Given the description of an element on the screen output the (x, y) to click on. 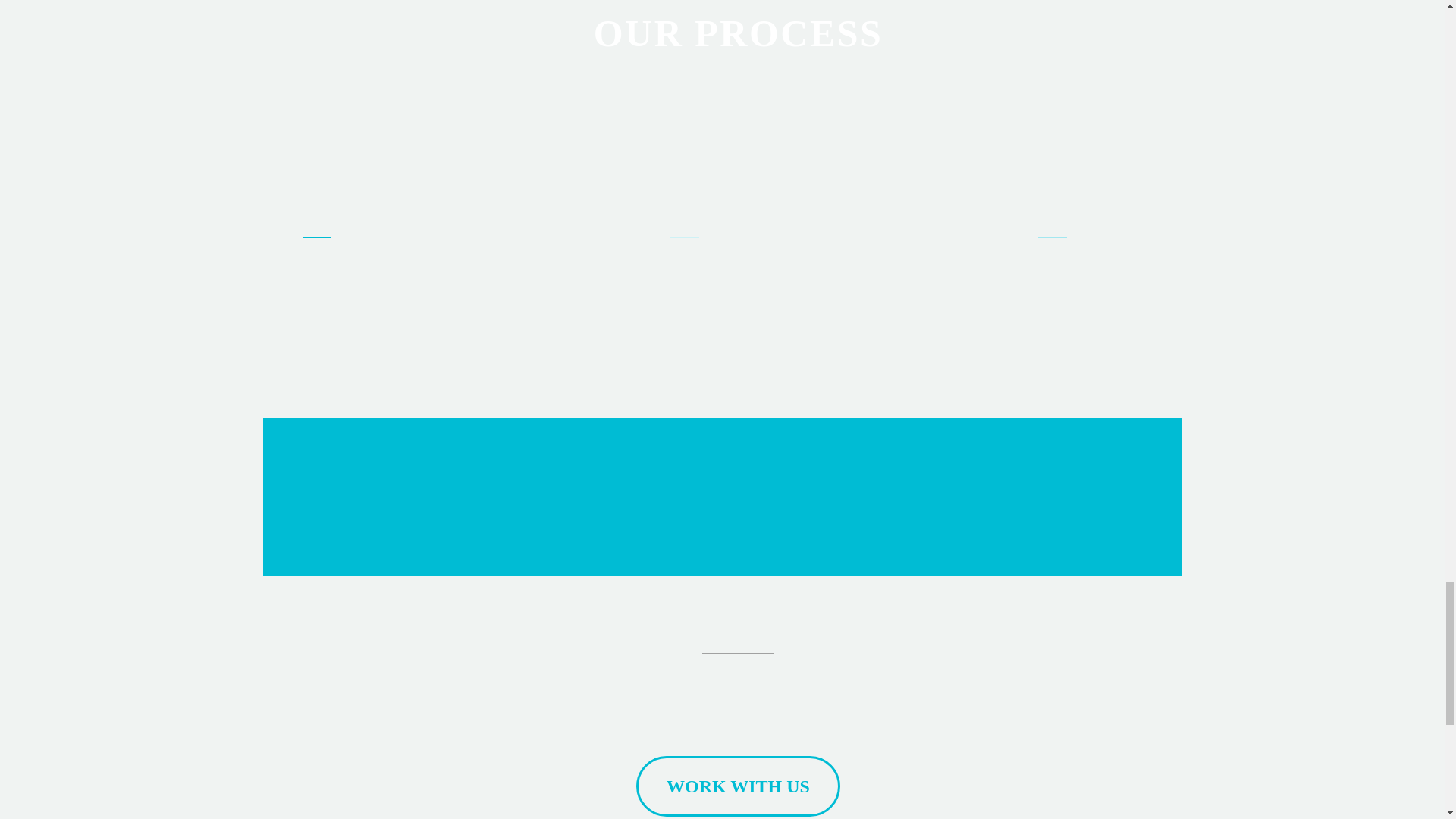
WORK WITH US (738, 785)
